Given the description of an element on the screen output the (x, y) to click on. 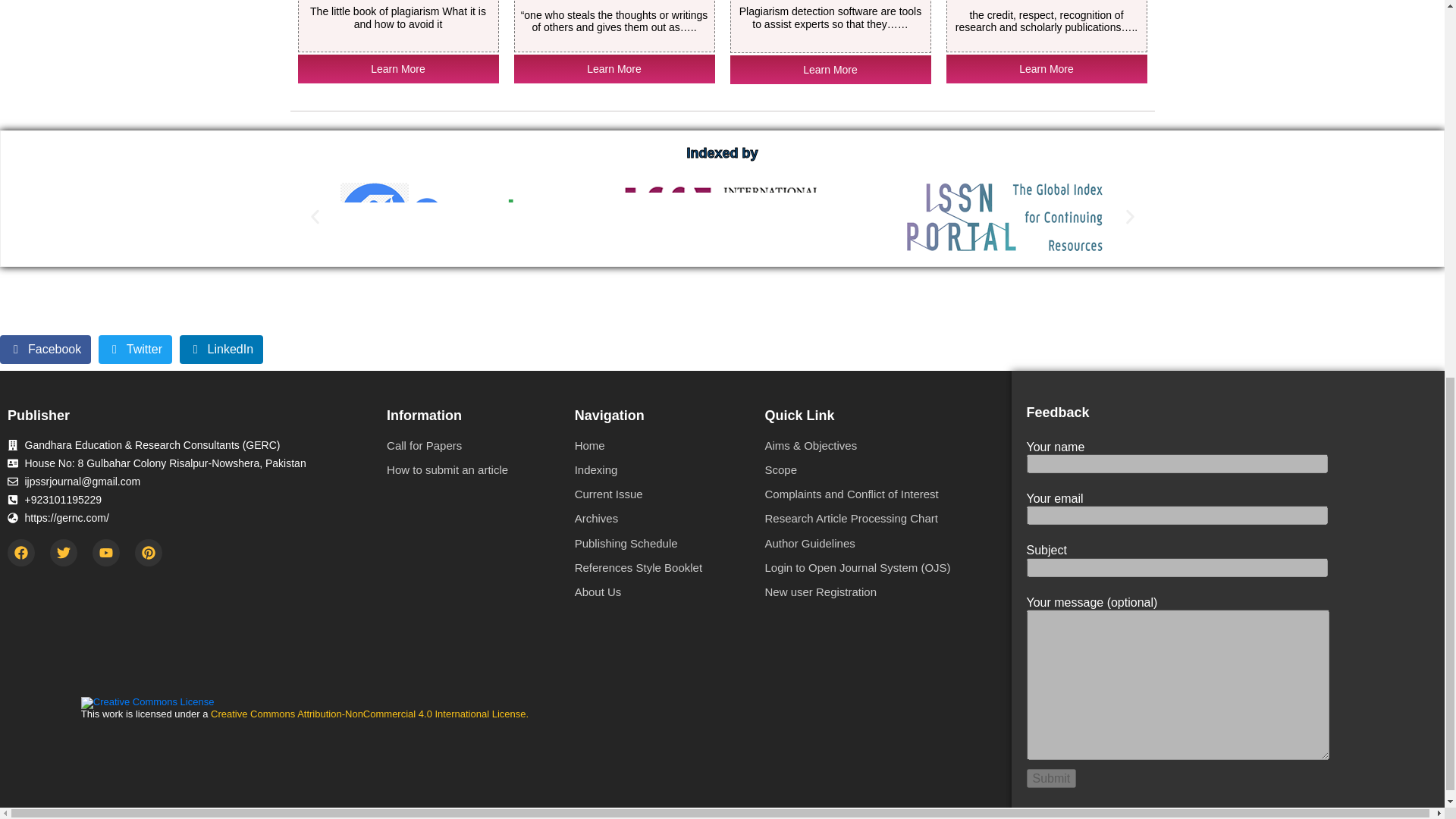
Submit (1051, 778)
